Given the description of an element on the screen output the (x, y) to click on. 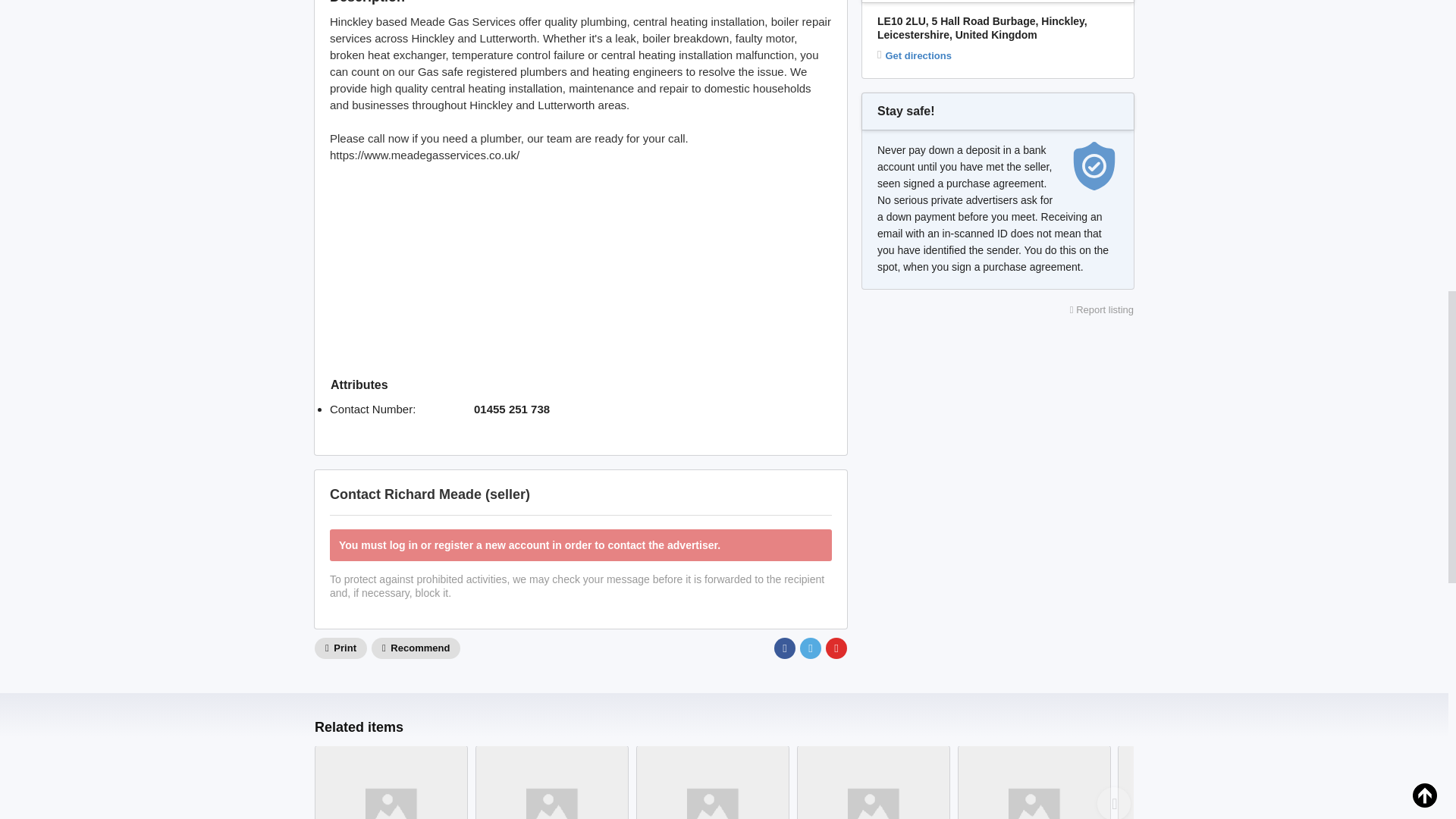
Share on Pinterest (836, 647)
Share on Twitter (810, 647)
Print (340, 647)
Recommend (415, 647)
Share on Facebook (784, 647)
Get directions (914, 56)
Report listing (1102, 309)
